Given the description of an element on the screen output the (x, y) to click on. 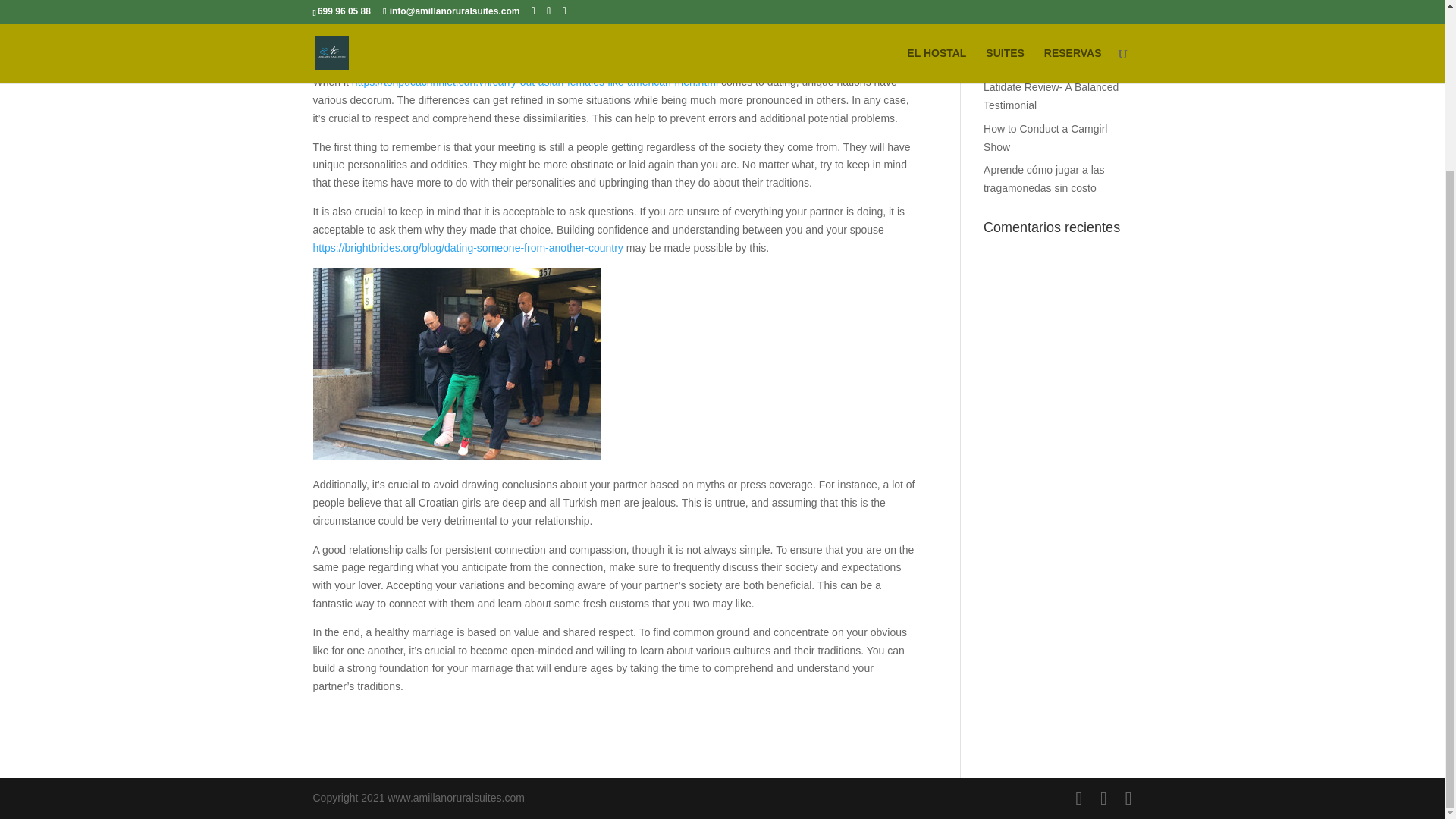
How to Conduct a Camgirl Show (1045, 137)
Latidate Review- A Balanced Testimonial (1051, 96)
The Obstacles of Choosing Foreign Brides (1048, 55)
Sofiadate Review: How Does Sofiadate Operate? (1052, 14)
